Given the description of an element on the screen output the (x, y) to click on. 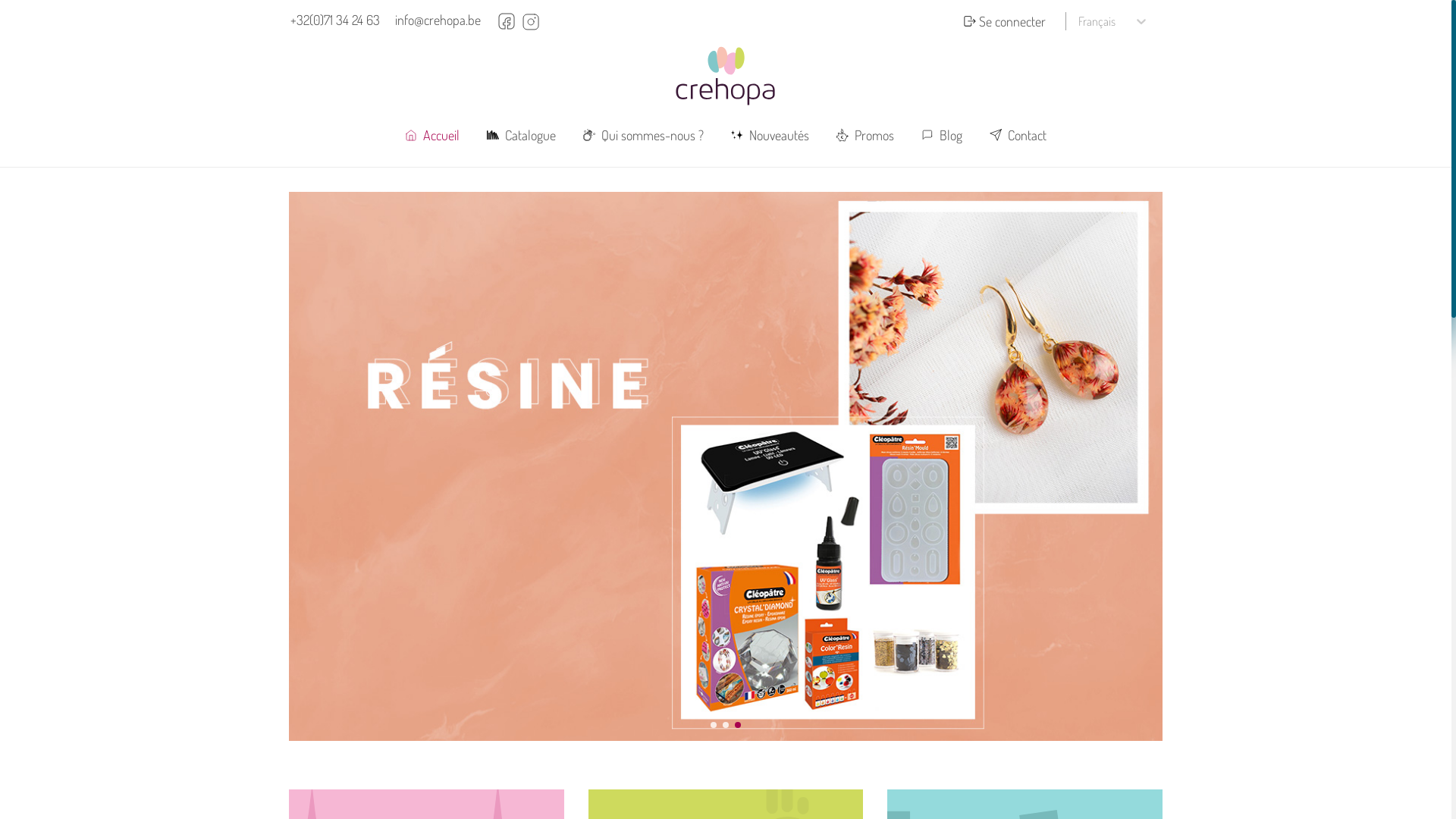
Qui sommes-nous ? Element type: text (643, 134)
Accueil Element type: text (432, 134)
Promos Element type: text (864, 134)
+32(0)71 34 24 63 Element type: text (334, 21)
Facebook crehopa Element type: text (506, 21)
Contact Element type: text (1018, 134)
Se connecter Element type: text (1004, 21)
crehopa Element type: text (725, 75)
Blog Element type: text (941, 134)
info@crehopa.be Element type: text (437, 21)
Catalogue Element type: text (521, 134)
Instagram crehopa Element type: text (530, 21)
